Given the description of an element on the screen output the (x, y) to click on. 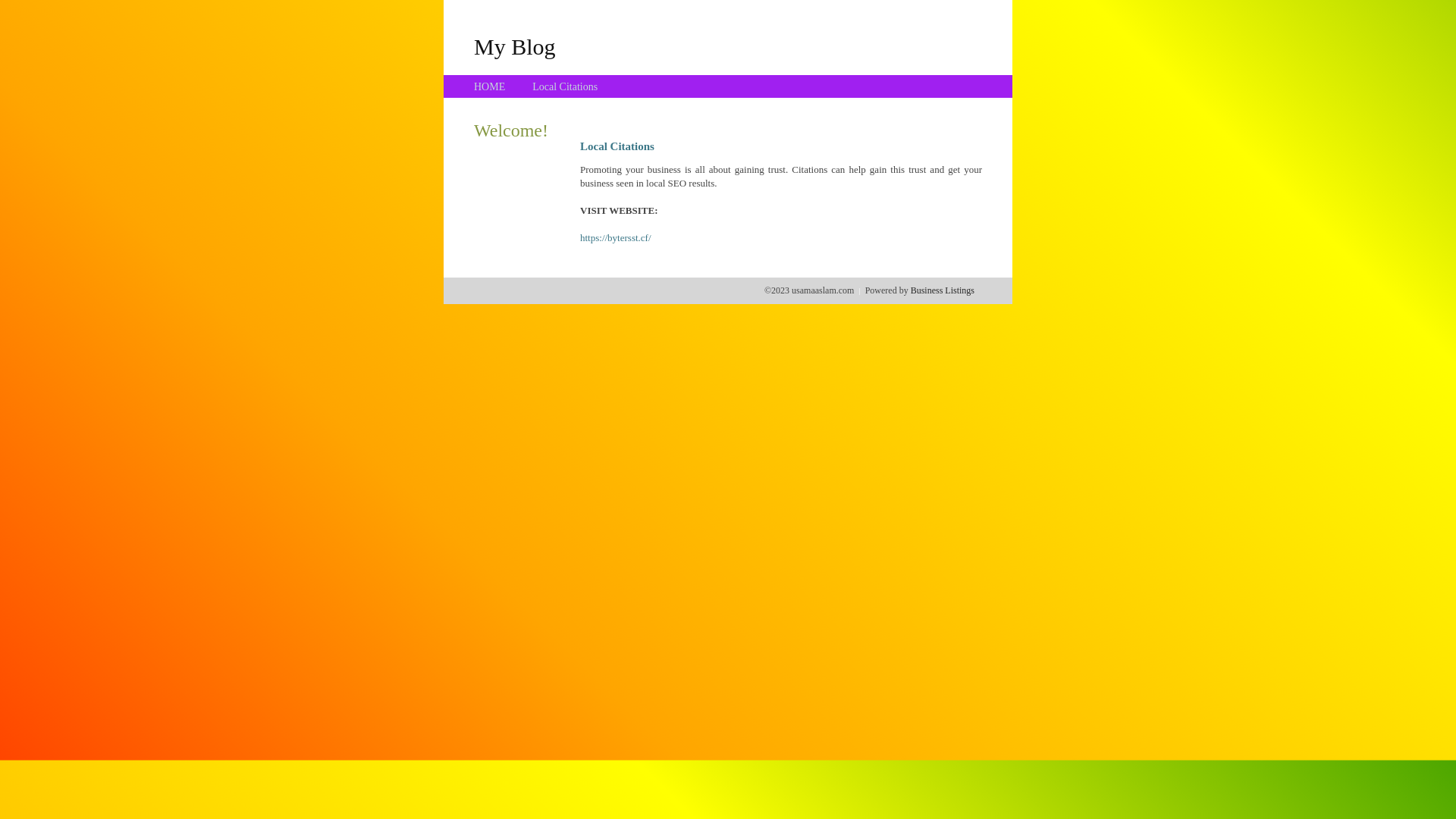
HOME Element type: text (489, 86)
My Blog Element type: text (514, 46)
Business Listings Element type: text (942, 290)
Local Citations Element type: text (564, 86)
https://bytersst.cf/ Element type: text (615, 237)
